Given the description of an element on the screen output the (x, y) to click on. 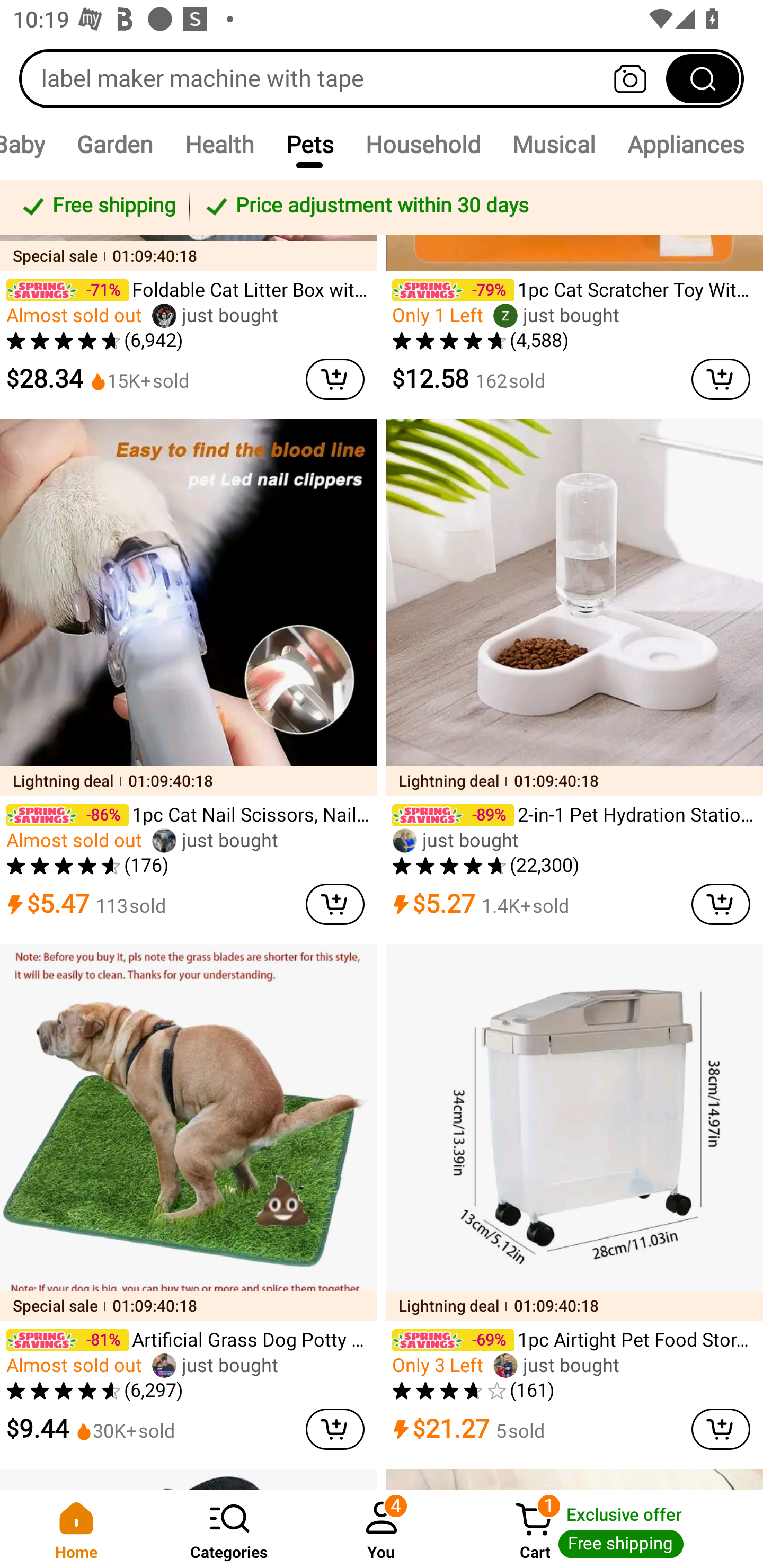
label maker machine with tape (381, 78)
Garden (114, 144)
Health (218, 144)
Pets (309, 144)
Household (422, 144)
Musical (553, 144)
Appliances (685, 144)
Free shipping (97, 206)
Price adjustment within 30 days (472, 206)
cart delete (334, 379)
cart delete (720, 379)
cart delete (334, 904)
cart delete (720, 904)
cart delete (334, 1429)
cart delete (720, 1429)
Home (76, 1528)
Categories (228, 1528)
You 4 You (381, 1528)
Cart 1 Cart Exclusive offer (610, 1528)
